Given the description of an element on the screen output the (x, y) to click on. 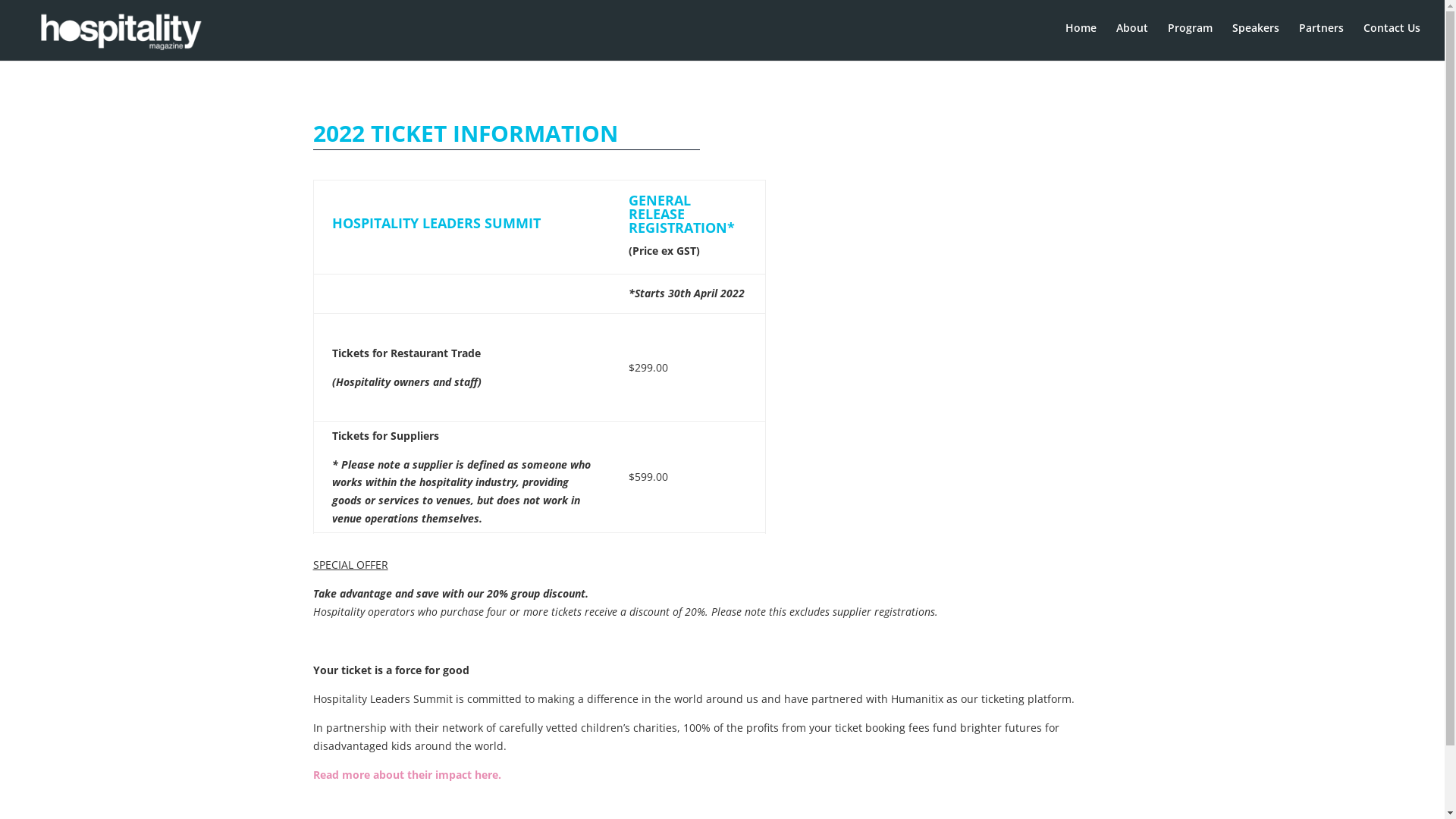
About Element type: text (1132, 39)
Speakers Element type: text (1255, 39)
Home Element type: text (1080, 39)
Program Element type: text (1189, 39)
Partners Element type: text (1321, 39)
Contact Us Element type: text (1391, 39)
Read more about their impact here. Element type: text (406, 774)
